Given the description of an element on the screen output the (x, y) to click on. 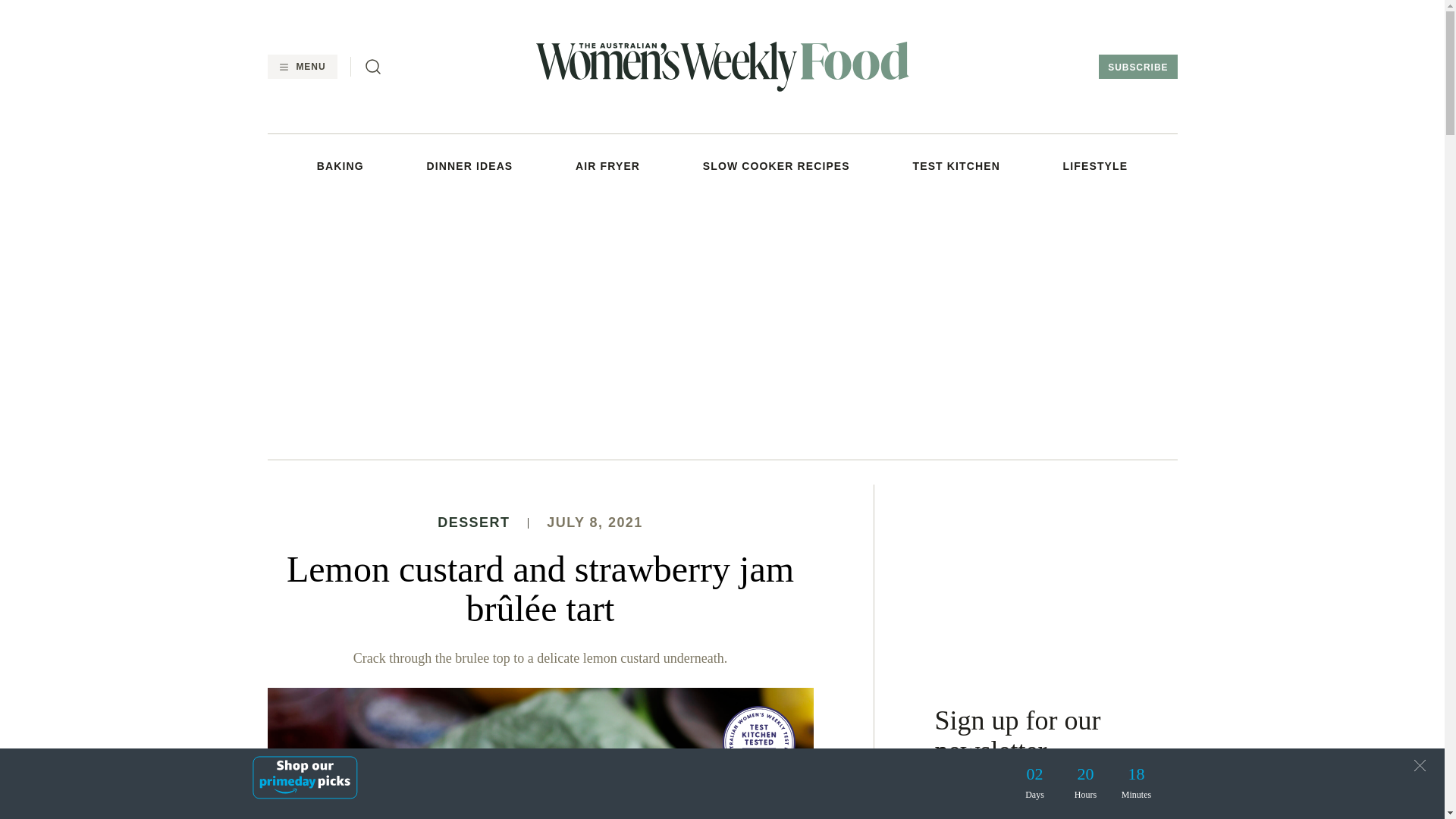
LIFESTYLE (1095, 165)
AIR FRYER (607, 165)
BAKING (340, 165)
3rd party ad content (1055, 579)
SUBSCRIBE (1137, 66)
TEST KITCHEN (956, 165)
SLOW COOKER RECIPES (776, 165)
DINNER IDEAS (469, 165)
3rd party ad content (721, 325)
MENU (301, 66)
